Given the description of an element on the screen output the (x, y) to click on. 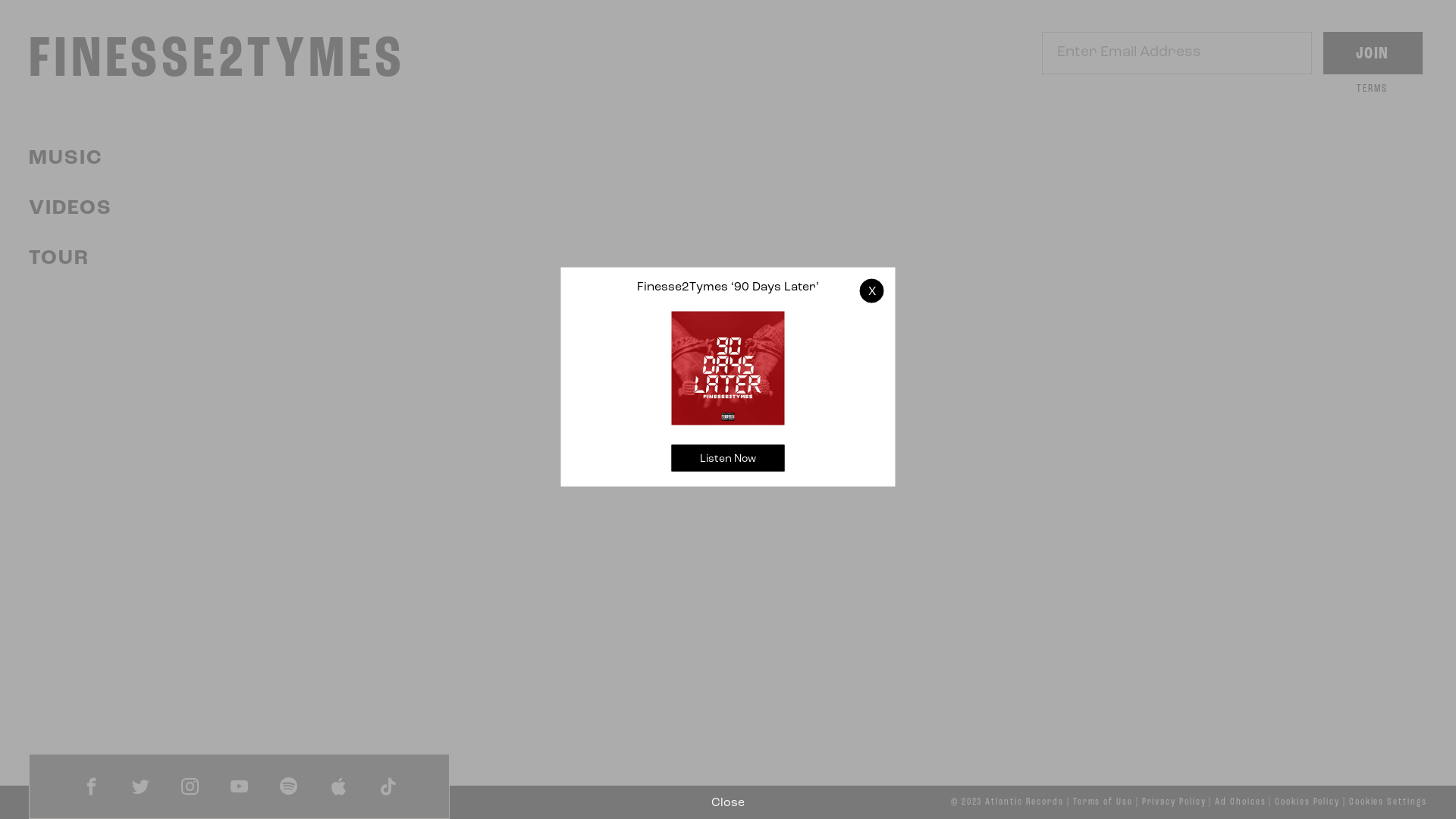
MUSIC Element type: text (65, 158)
Close Element type: text (727, 803)
Cookies Policy Element type: text (1306, 802)
Join Element type: text (1371, 52)
Cookies Settings Element type: text (1388, 802)
TOUR Element type: text (58, 258)
VIDEOS Element type: text (70, 208)
Privacy Policy Element type: text (1174, 802)
TERMS Element type: text (1371, 88)
Ad Choices Element type: text (1239, 802)
Terms of Use Element type: text (1102, 802)
Listen Now Element type: text (727, 457)
X Element type: text (871, 290)
FINESSE2TYMES Element type: text (216, 60)
